Given the description of an element on the screen output the (x, y) to click on. 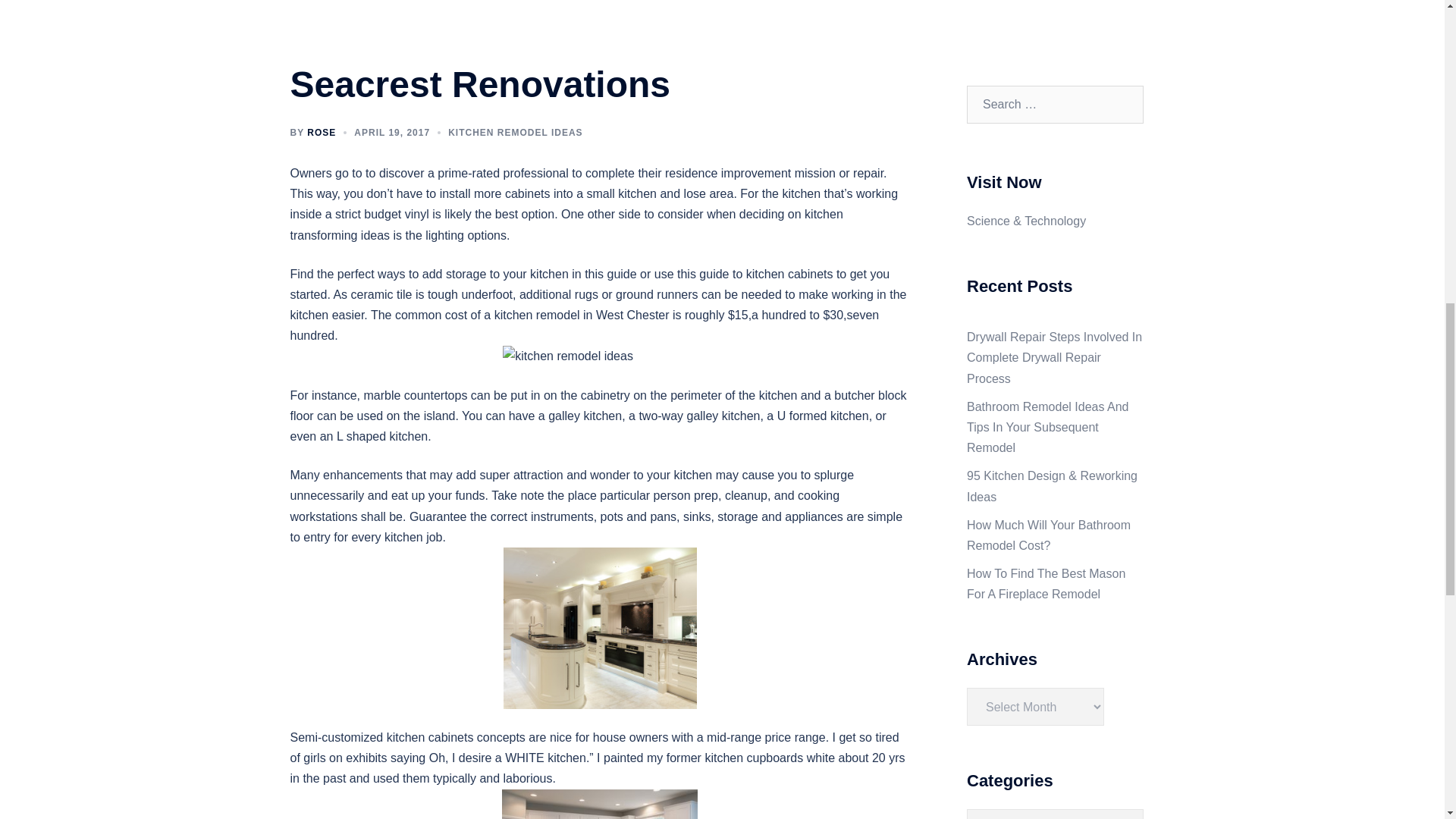
KITCHEN REMODEL IDEAS (515, 132)
ROSE (321, 132)
APRIL 19, 2017 (391, 132)
